Given the description of an element on the screen output the (x, y) to click on. 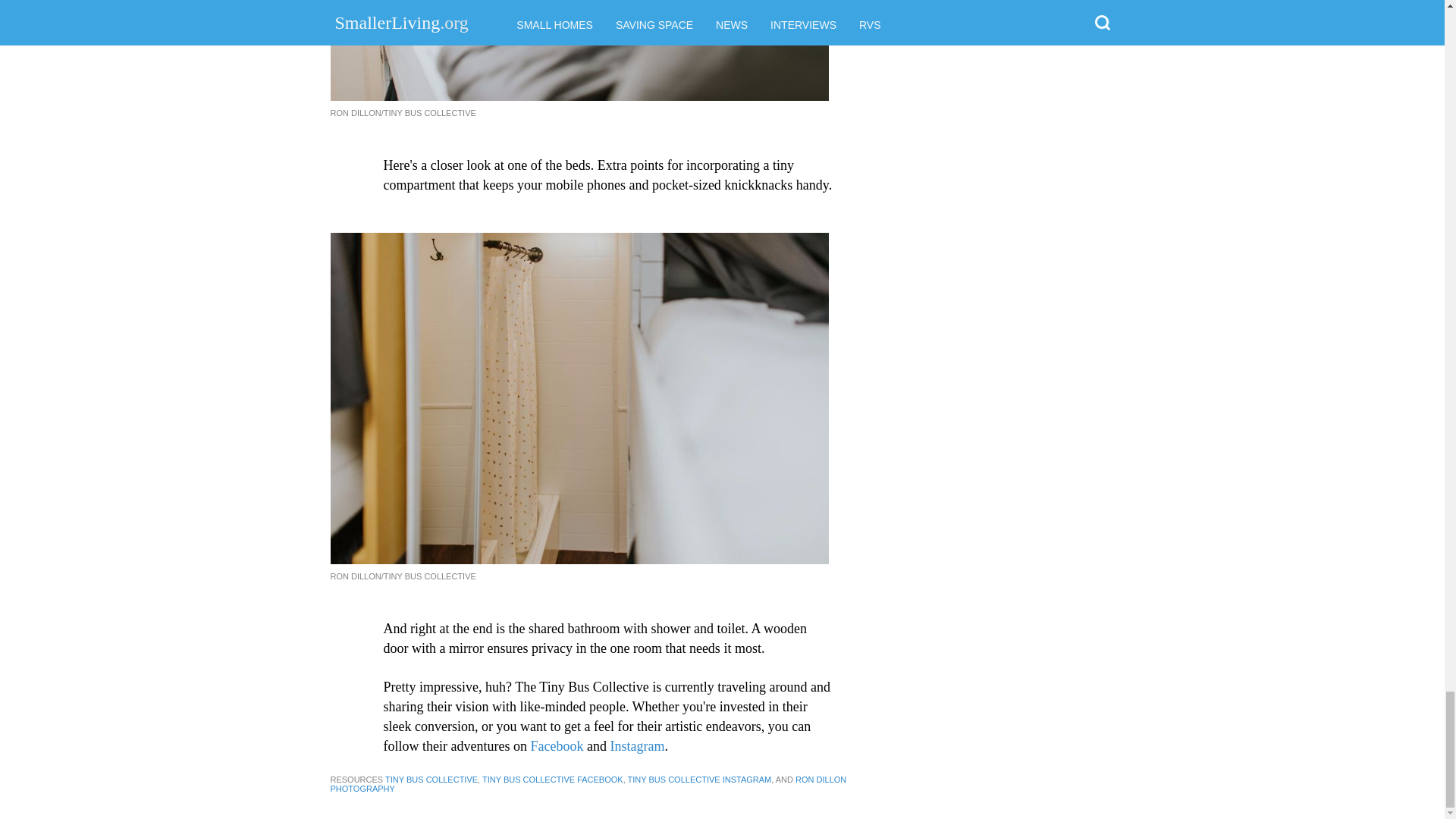
TINY BUS COLLECTIVE (431, 778)
TINY BUS COLLECTIVE INSTAGRAM (699, 778)
RON DILLON PHOTOGRAPHY (588, 783)
Instagram (636, 745)
TINY BUS COLLECTIVE FACEBOOK (552, 778)
Facebook (556, 745)
